Given the description of an element on the screen output the (x, y) to click on. 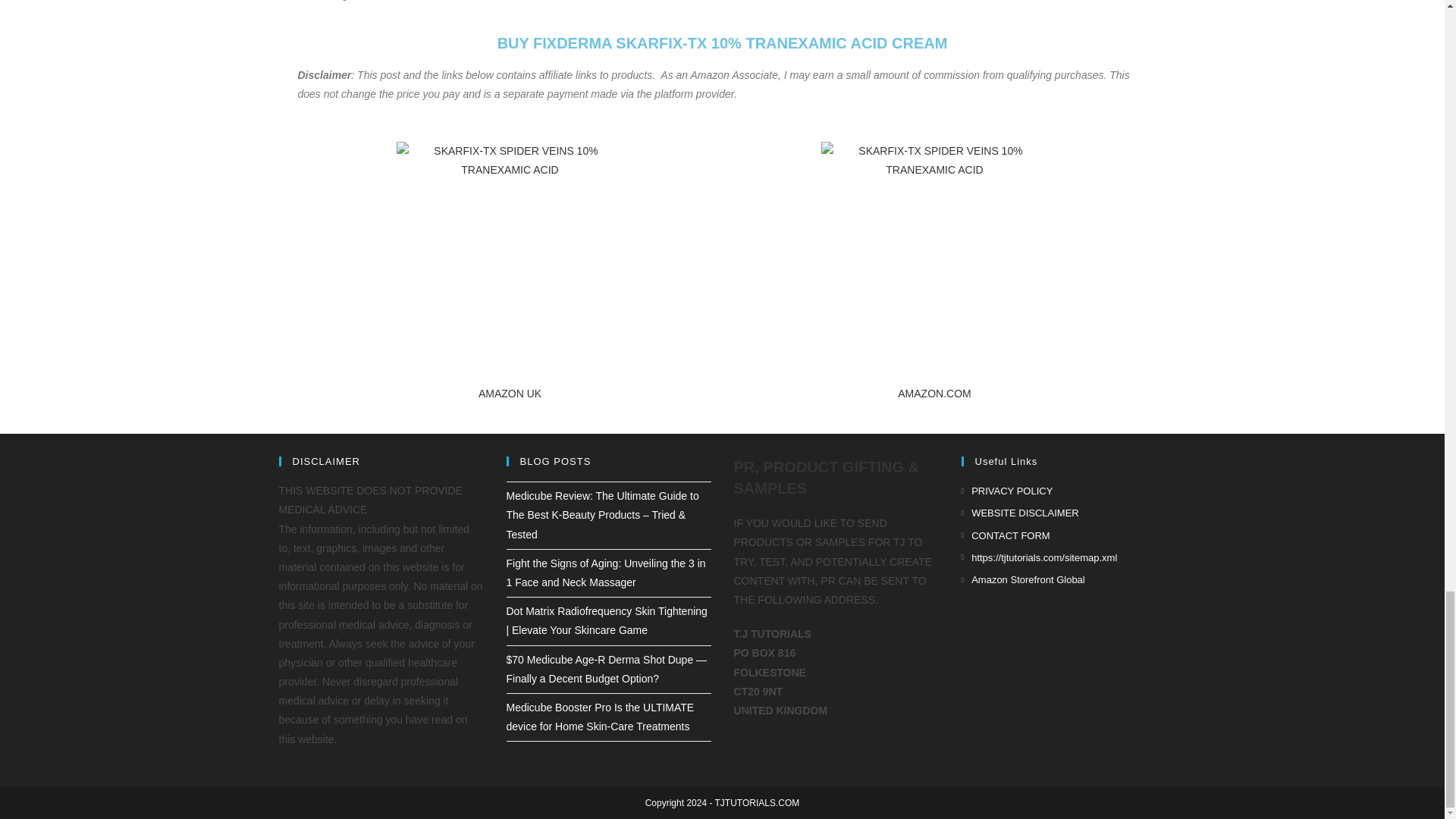
AMAZON.COM (934, 393)
AMAZON UK (510, 393)
PRIVACY POLICY (1006, 490)
Amazon Storefront Global (1022, 579)
CONTACT FORM (1004, 535)
WEBSITE DISCLAIMER (1019, 512)
